Given the description of an element on the screen output the (x, y) to click on. 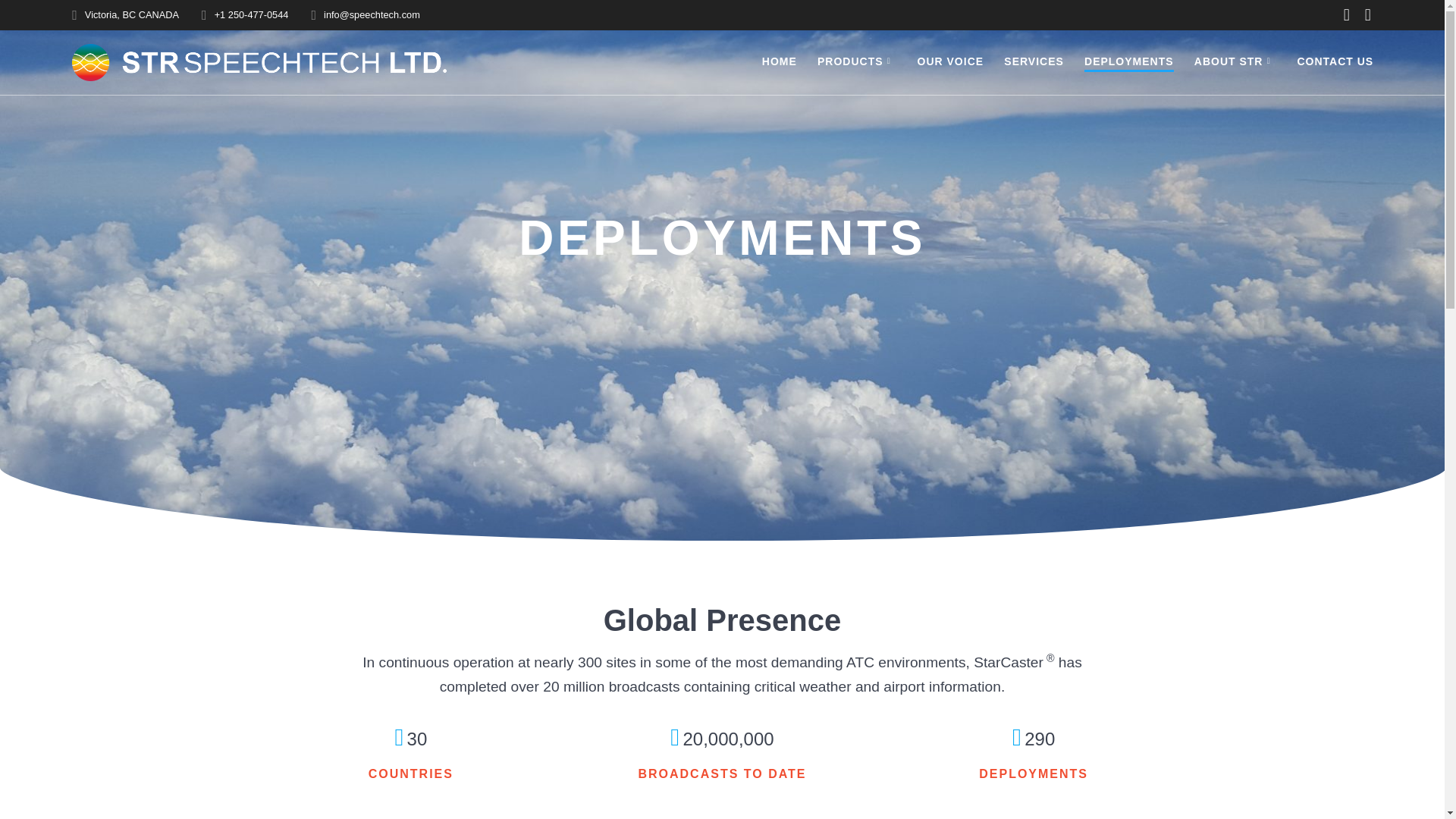
OUR VOICE (950, 62)
ABOUT STR (1234, 62)
PRODUCTS (856, 62)
CONTACT US (1335, 62)
SERVICES (1034, 62)
HOME (778, 62)
DEPLOYMENTS (1128, 62)
